Given the description of an element on the screen output the (x, y) to click on. 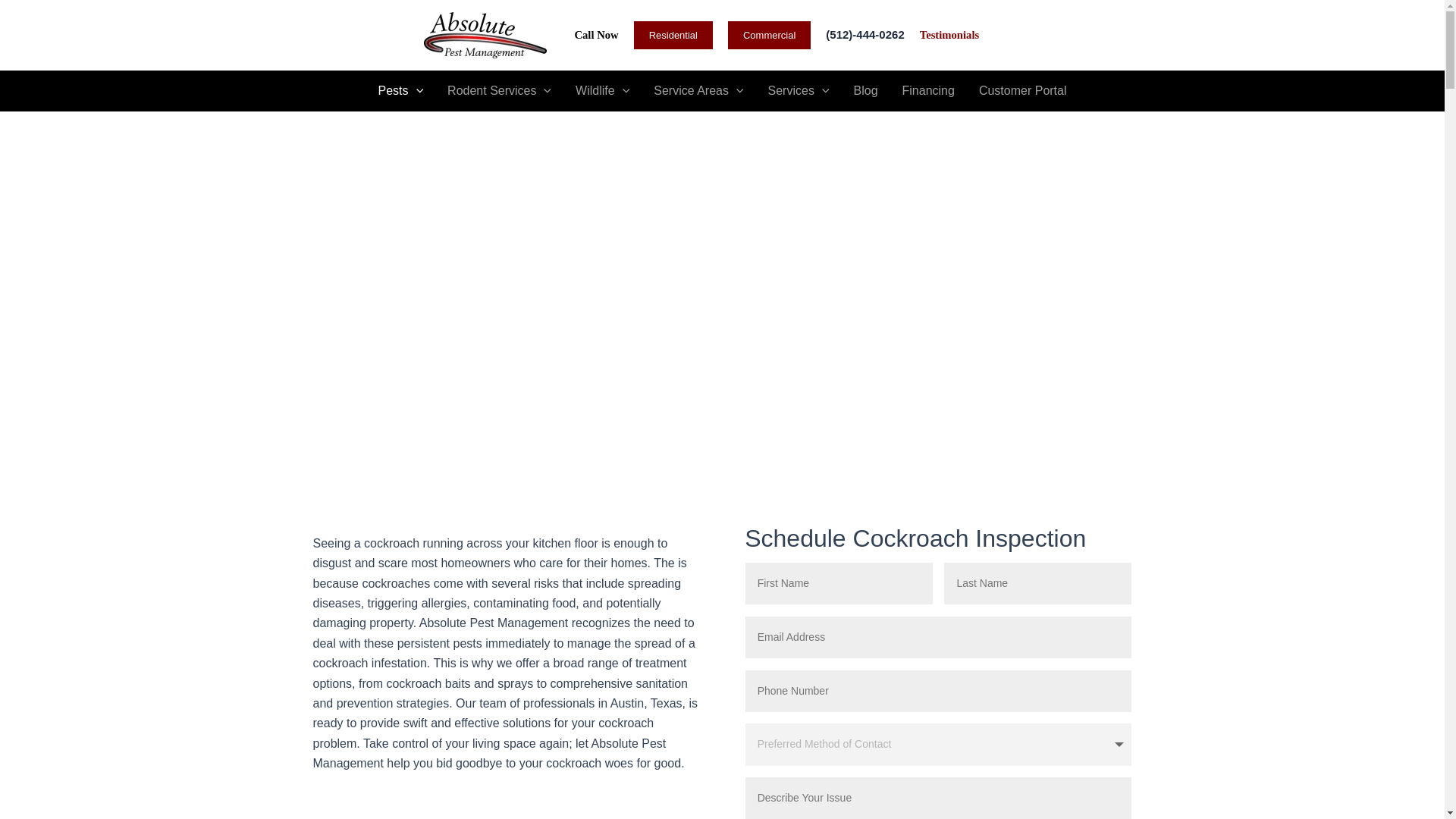
Testimonials (949, 33)
Pests (400, 90)
Commercial (769, 35)
Rodent Services (499, 90)
Wildlife (602, 90)
Residential (673, 35)
Call Now (595, 34)
